Given the description of an element on the screen output the (x, y) to click on. 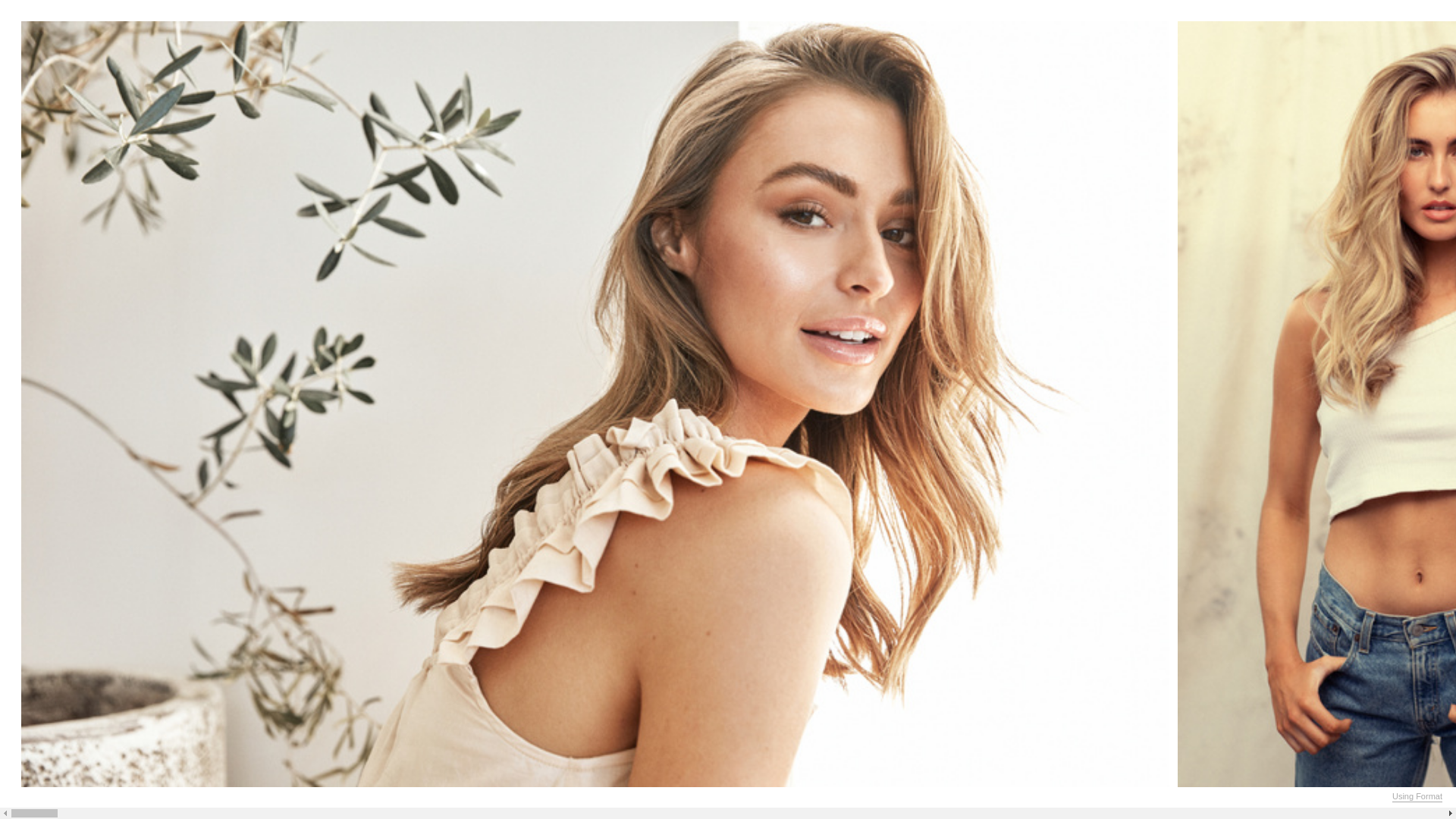
Using Format Element type: text (1417, 796)
